Given the description of an element on the screen output the (x, y) to click on. 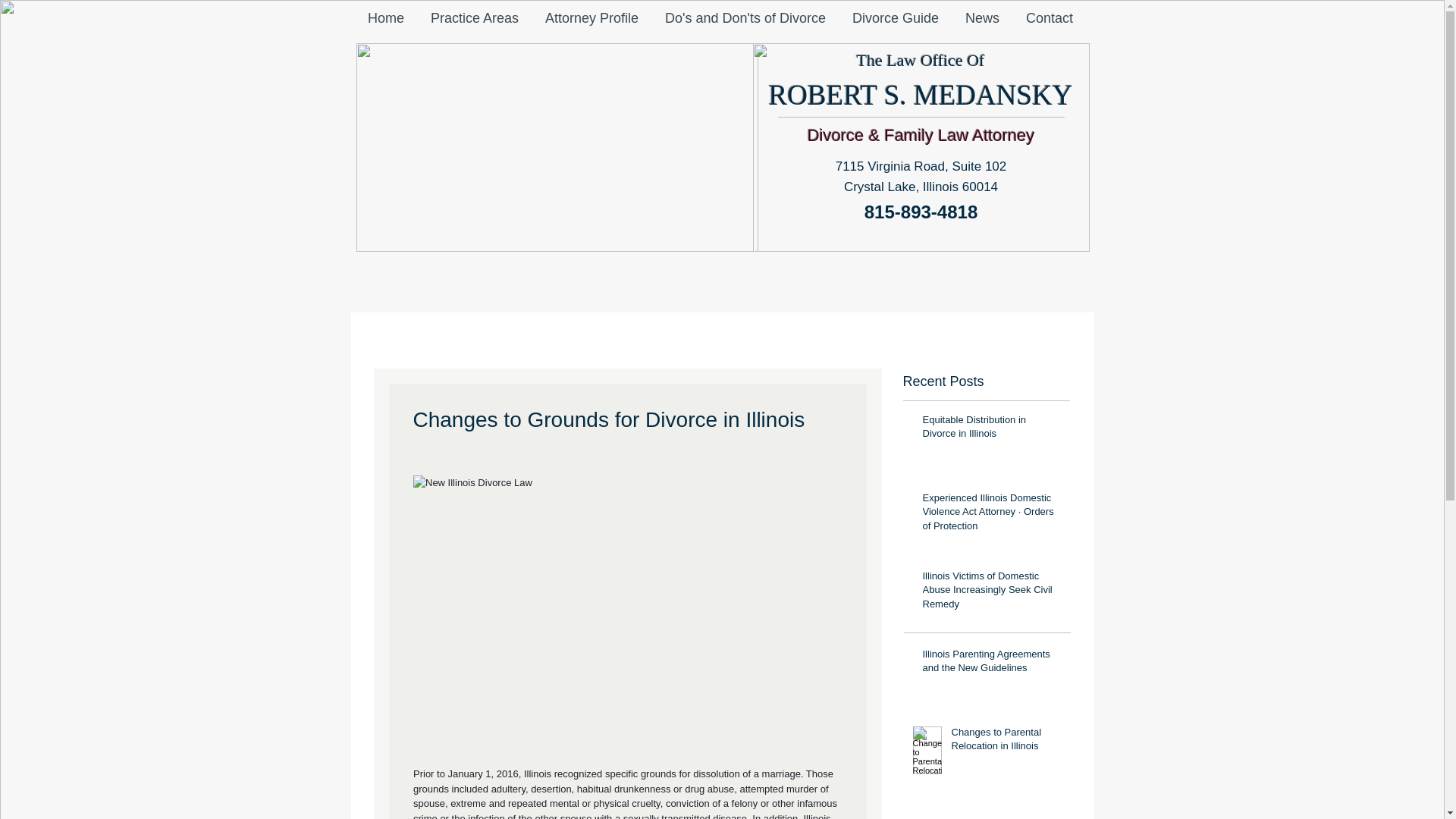
Practice Areas (473, 17)
Home (386, 17)
Changes to Parental Relocation in Illinois (1004, 742)
Illinois Parenting Agreements and the New Guidelines (990, 663)
Contact (1049, 17)
Do's and Don'ts of Divorce (746, 17)
Attorney Profile (592, 17)
Equitable Distribution in Divorce in Illinois (990, 429)
Robert Medansky Chicago Divorce Lawyer (920, 147)
